Given the description of an element on the screen output the (x, y) to click on. 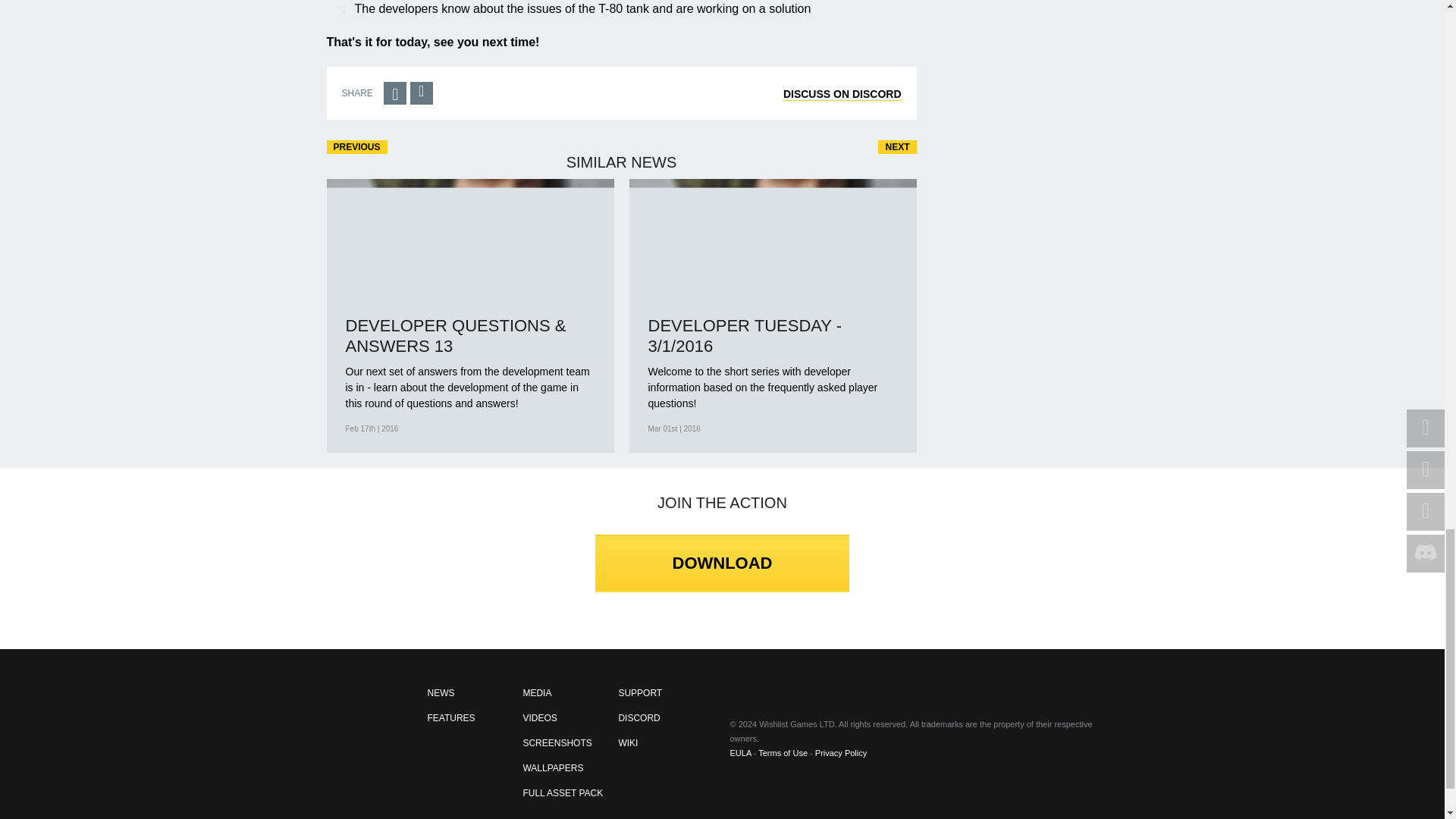
DISCUSS ON DISCORD (842, 93)
PREVIOUS (356, 146)
NEXT (896, 146)
